Given the description of an element on the screen output the (x, y) to click on. 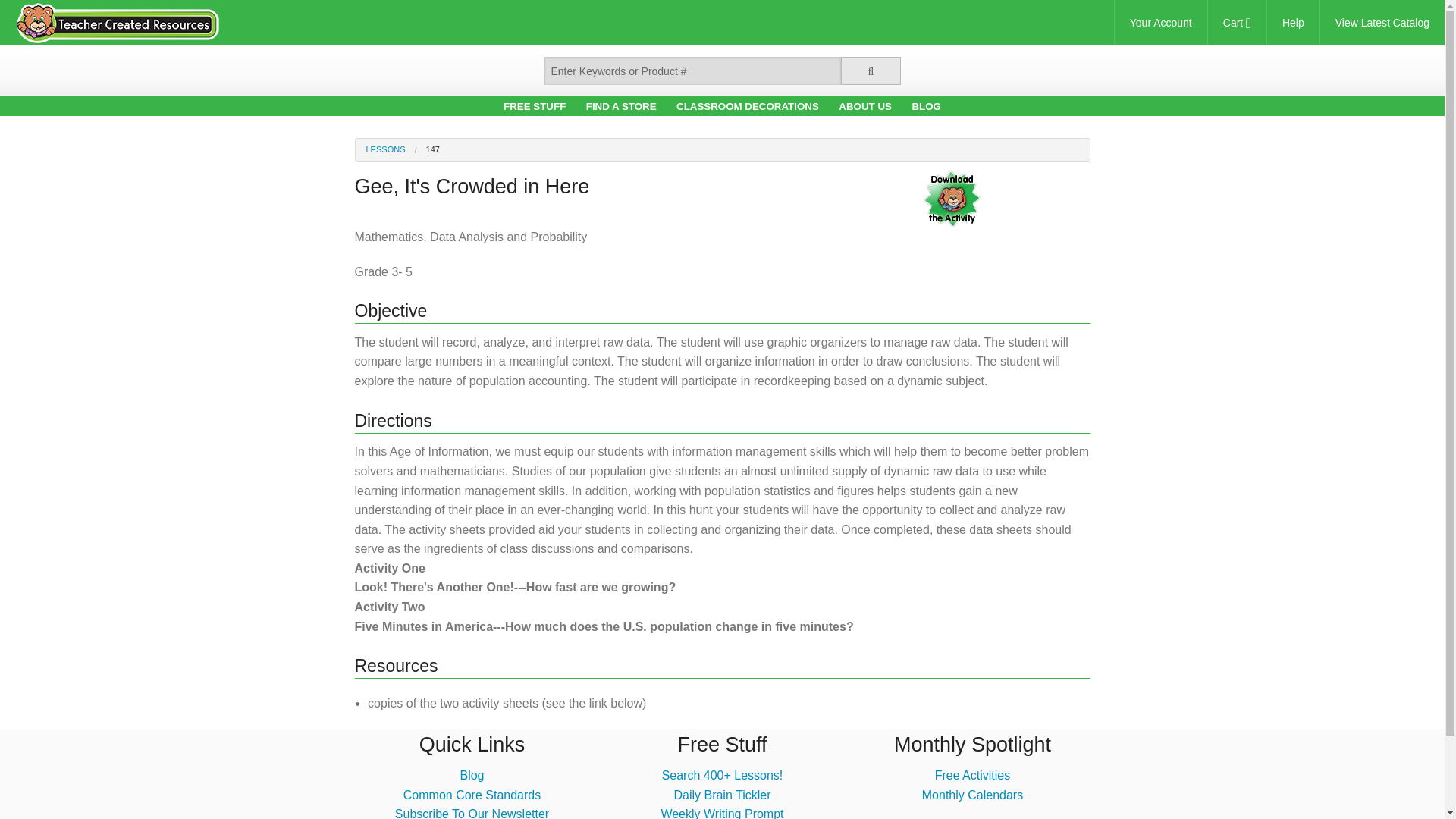
Daily Brain Tickler (721, 794)
Cart  (1237, 22)
Free Activities (972, 775)
LESSONS (384, 148)
Weekly Writing Prompt (722, 813)
CLASSROOM DECORATIONS (747, 106)
Blog (471, 775)
FIND A STORE (621, 106)
Common Core Standards (471, 794)
Your Account (1161, 22)
